Given the description of an element on the screen output the (x, y) to click on. 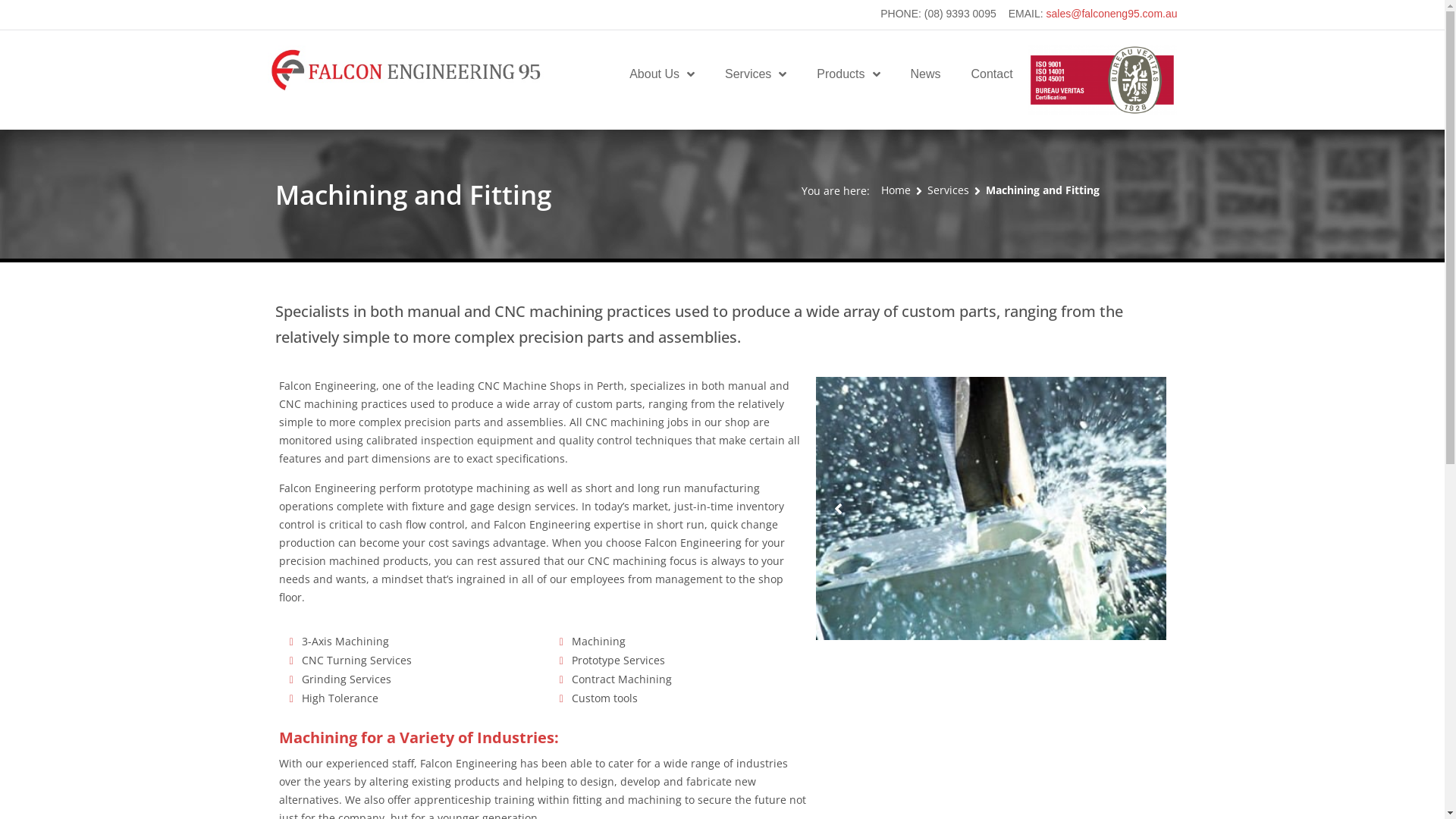
sales@falconeng95.com.au Element type: text (1111, 13)
About Us Element type: text (661, 73)
Services Element type: text (948, 190)
Services Element type: text (755, 73)
Contact Element type: text (992, 73)
Products Element type: text (847, 73)
News Element type: text (924, 73)
Home Element type: text (895, 190)
